Given the description of an element on the screen output the (x, y) to click on. 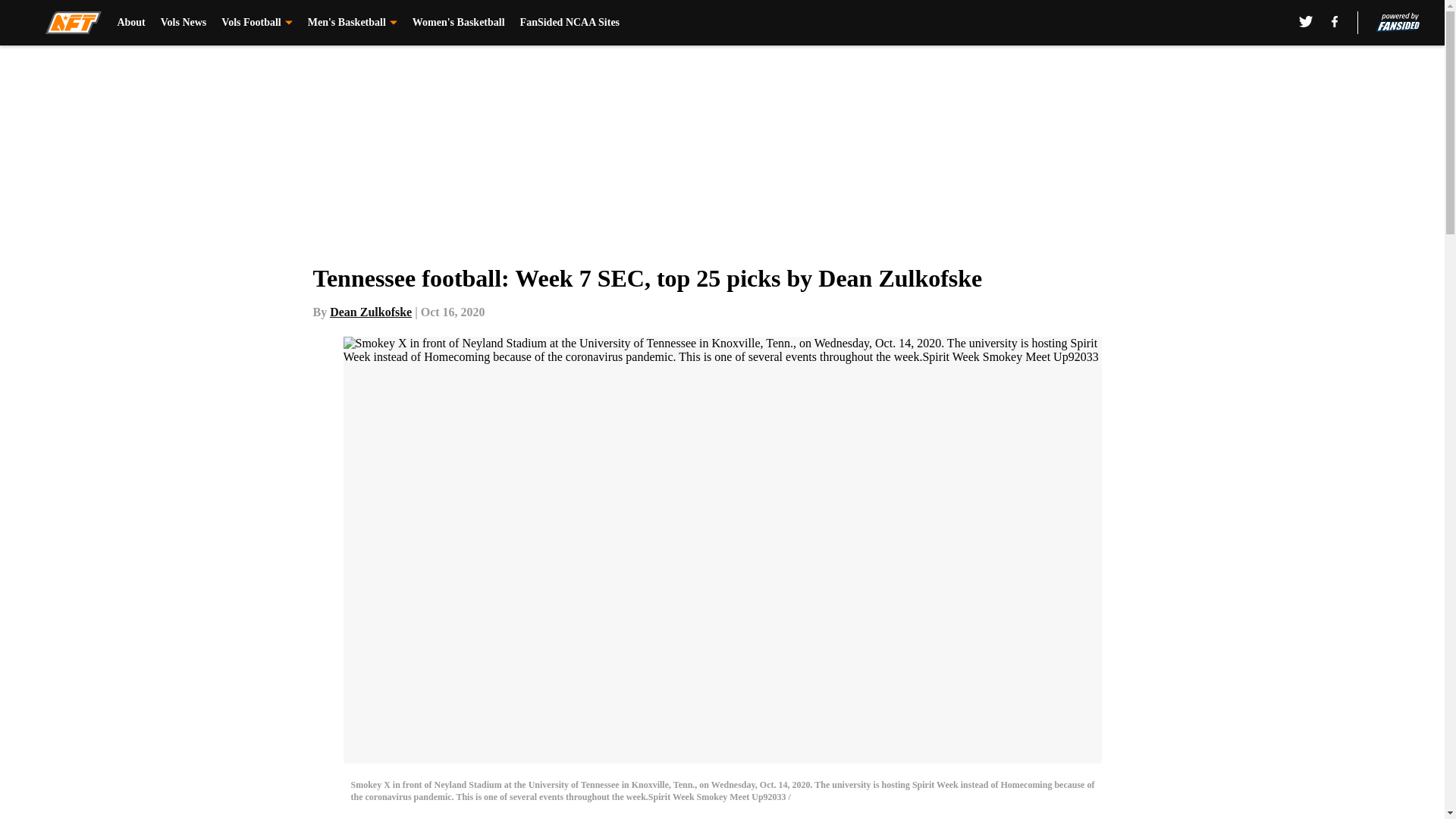
Women's Basketball (458, 22)
About (130, 22)
Vols News (183, 22)
Dean Zulkofske (371, 311)
FanSided NCAA Sites (569, 22)
